Given the description of an element on the screen output the (x, y) to click on. 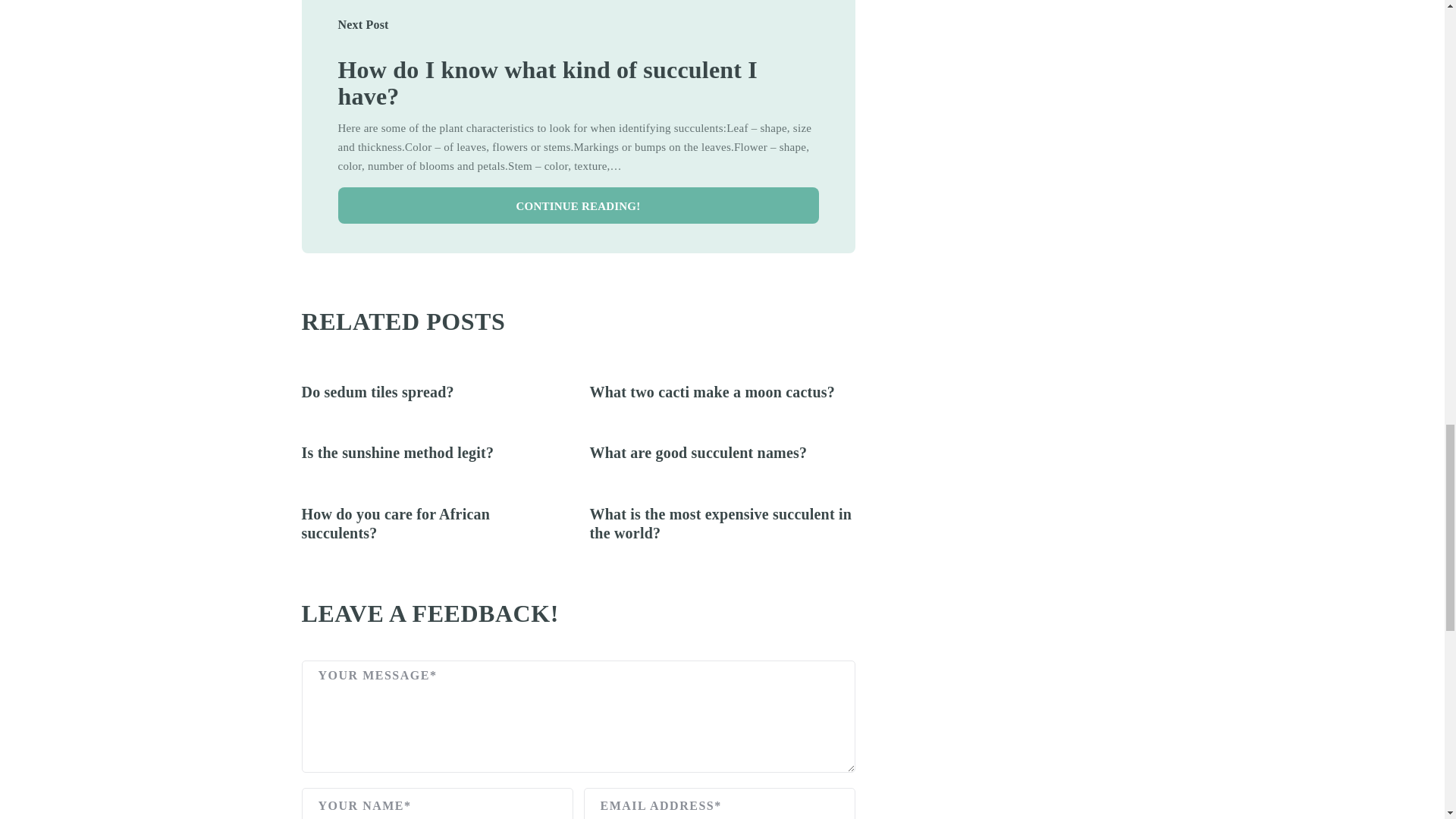
Do sedum tiles spread? (377, 392)
Is the sunshine method legit? (398, 452)
What are good succulent names? (698, 452)
Is the sunshine method legit? (398, 452)
What is the most expensive succulent in the world? (720, 523)
What two cacti make a moon cactus? (711, 392)
What two cacti make a moon cactus? (711, 392)
Do sedum tiles spread? (377, 392)
What are good succulent names? (698, 452)
How do you care for a kalanchoe succulent? (547, 82)
